Given the description of an element on the screen output the (x, y) to click on. 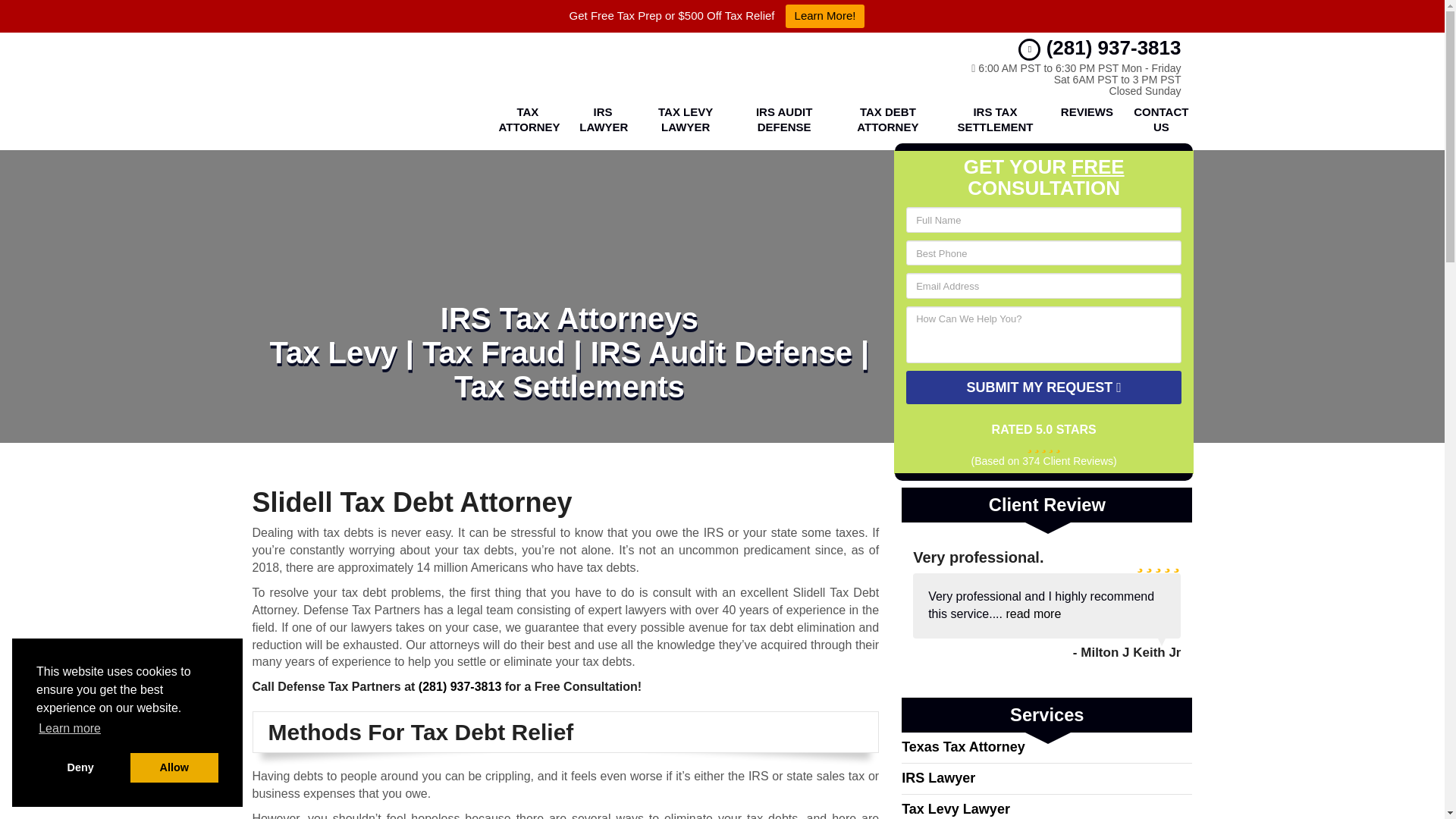
Tax Debt Attorney (887, 119)
TAX LEVY LAWYER (685, 119)
TAX ATTORNEY (526, 119)
REVIEWS (1083, 119)
Deny (79, 767)
IRS AUDIT DEFENSE (783, 119)
Tax Levy Lawyer (685, 119)
read more (1033, 613)
Allow (174, 767)
SUBMIT MY REQUEST (1042, 387)
